Given the description of an element on the screen output the (x, y) to click on. 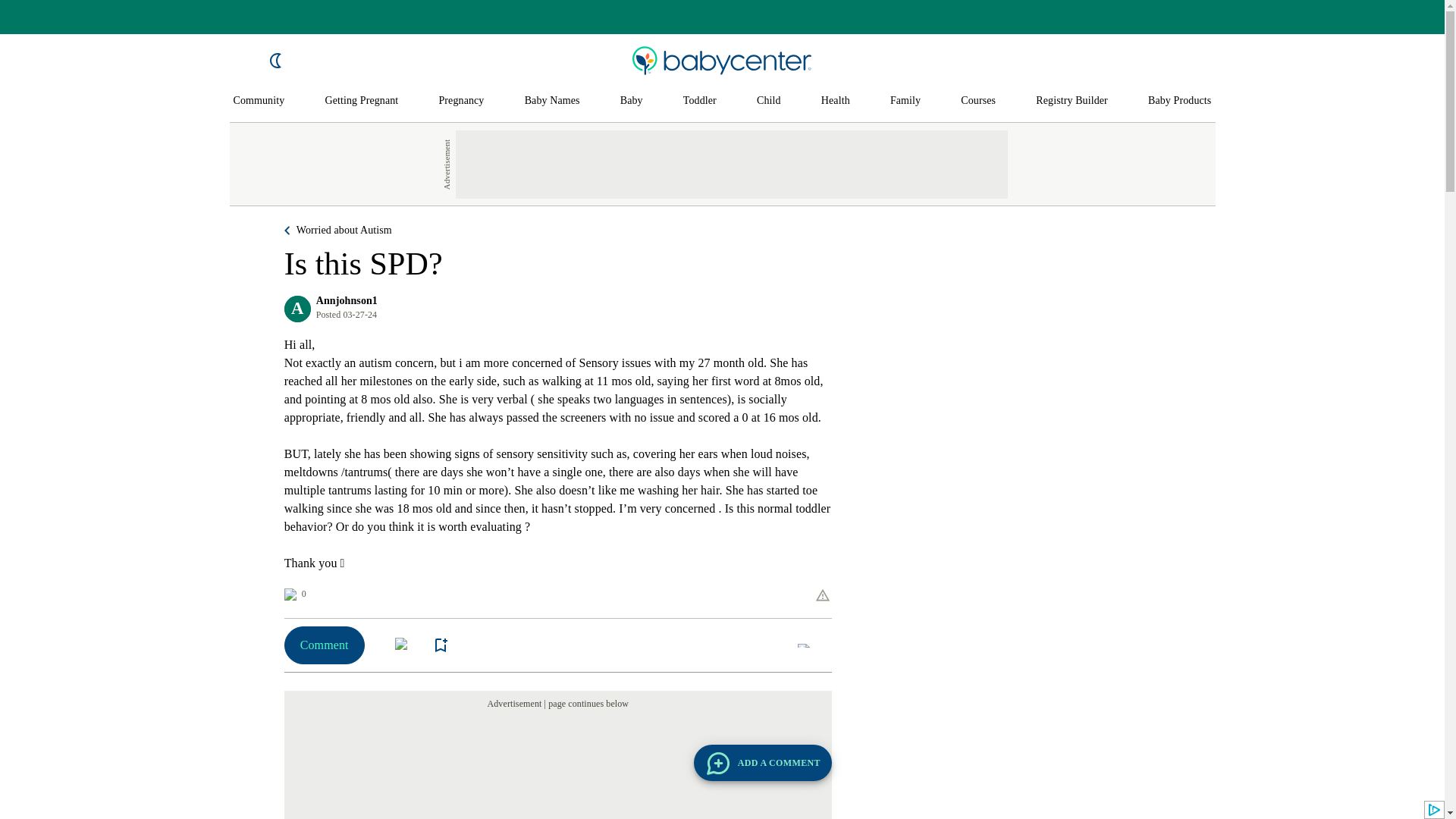
Baby Products (1179, 101)
Health (835, 101)
Baby (631, 101)
Getting Pregnant (360, 101)
Family (904, 101)
Pregnancy (460, 101)
Registry Builder (1071, 101)
Community (258, 101)
Baby Names (551, 101)
Courses (977, 101)
